Given the description of an element on the screen output the (x, y) to click on. 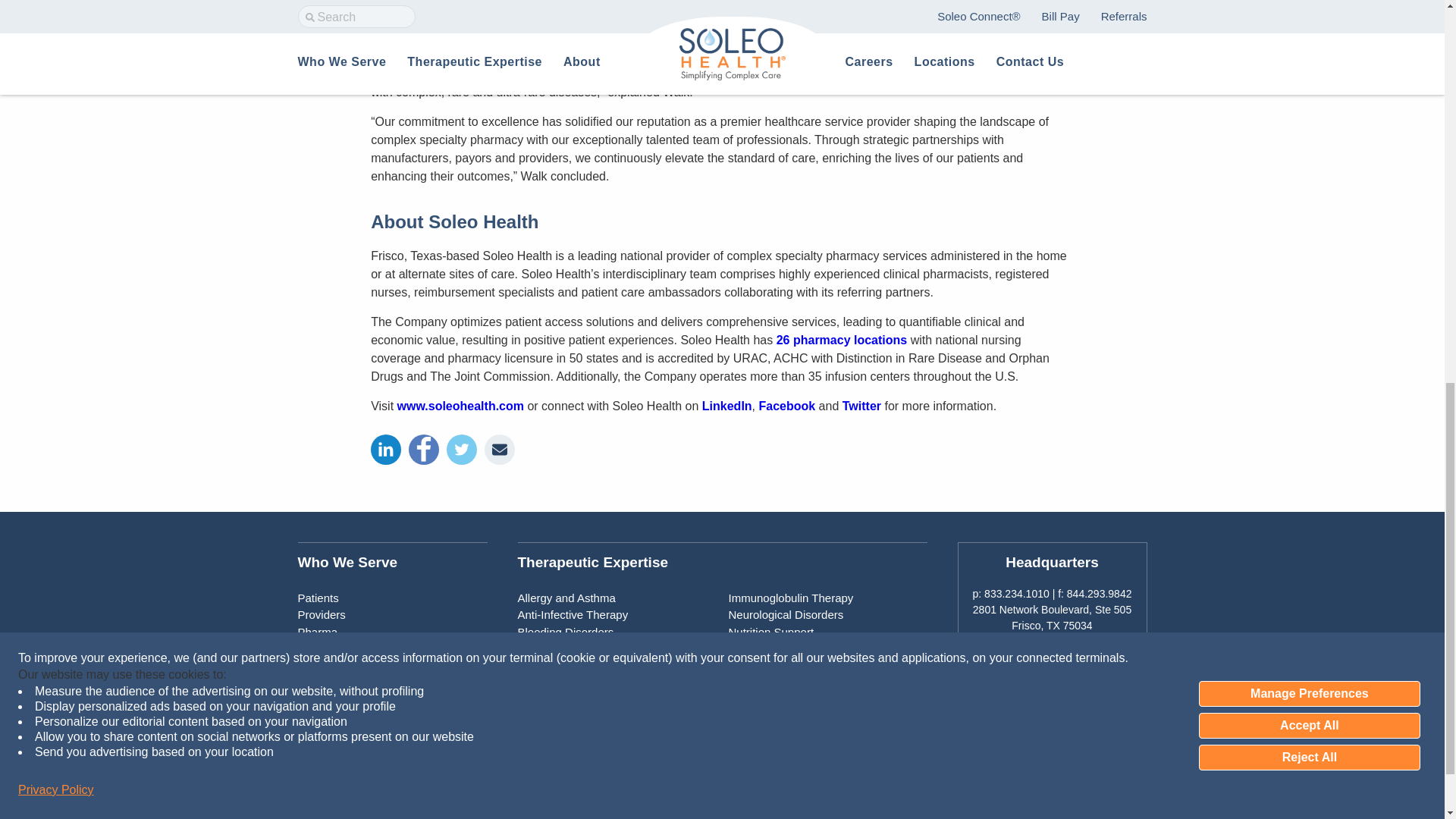
LinkedIn (1015, 659)
Privacy Policy (55, 11)
Twitter (1088, 659)
Facebook (1050, 659)
